Given the description of an element on the screen output the (x, y) to click on. 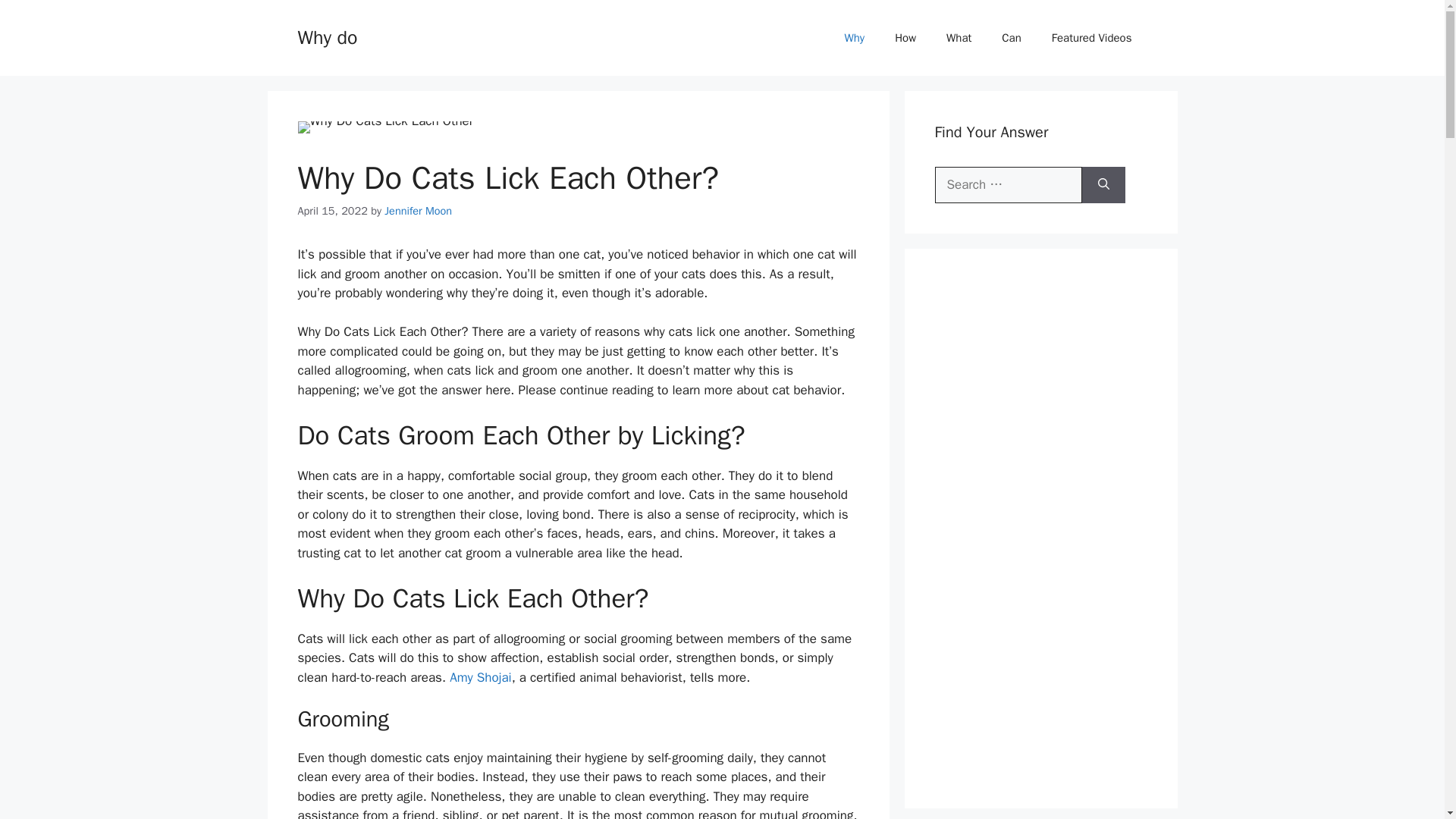
Featured Videos (1091, 37)
View all posts by Jennifer Moon (417, 210)
Why do (326, 37)
Search for: (1007, 185)
What (959, 37)
Amy Shojai (480, 677)
Can (1011, 37)
Jennifer Moon (417, 210)
Why (853, 37)
How (905, 37)
